Given the description of an element on the screen output the (x, y) to click on. 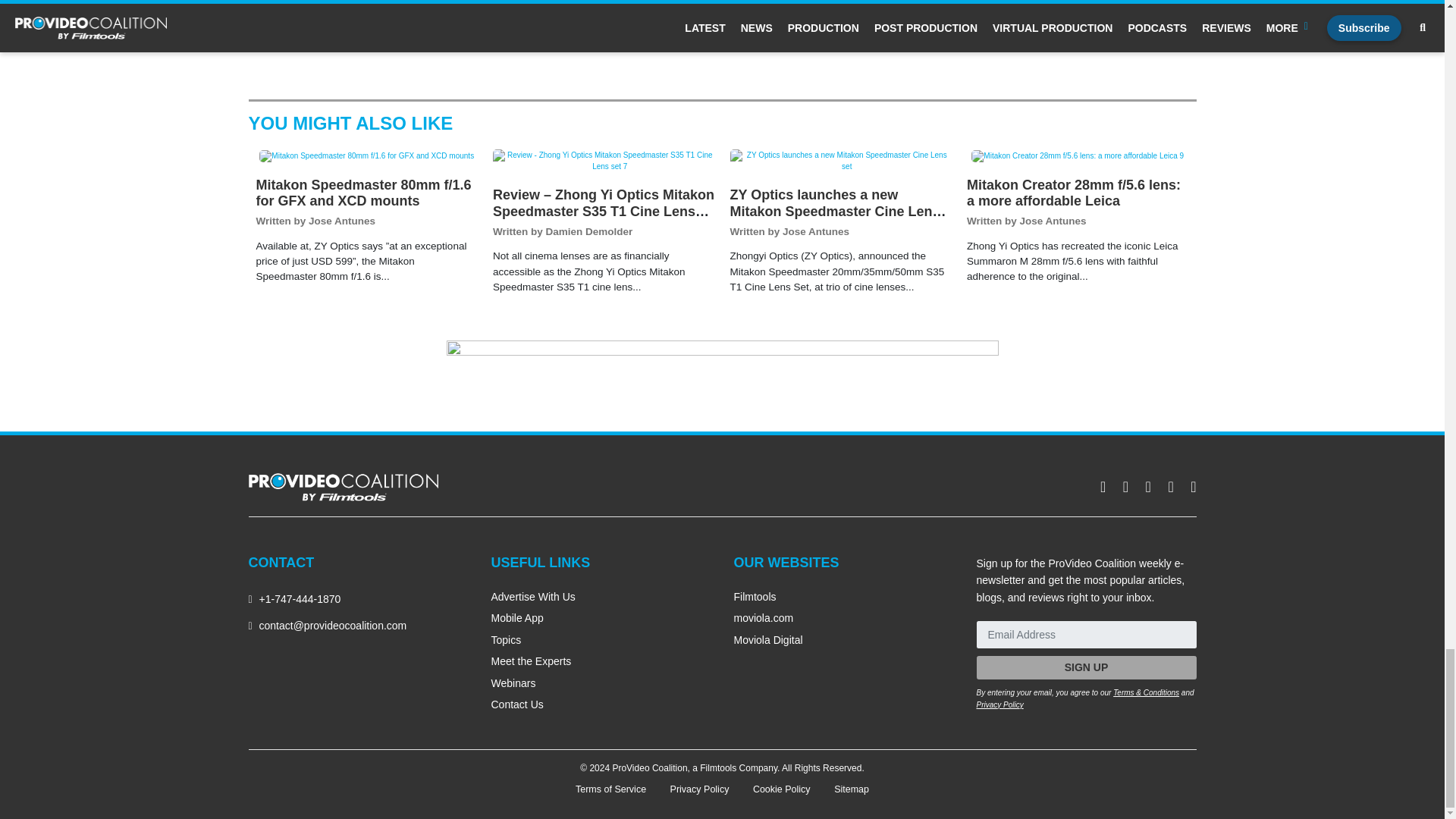
SIGN UP (1086, 667)
